Given the description of an element on the screen output the (x, y) to click on. 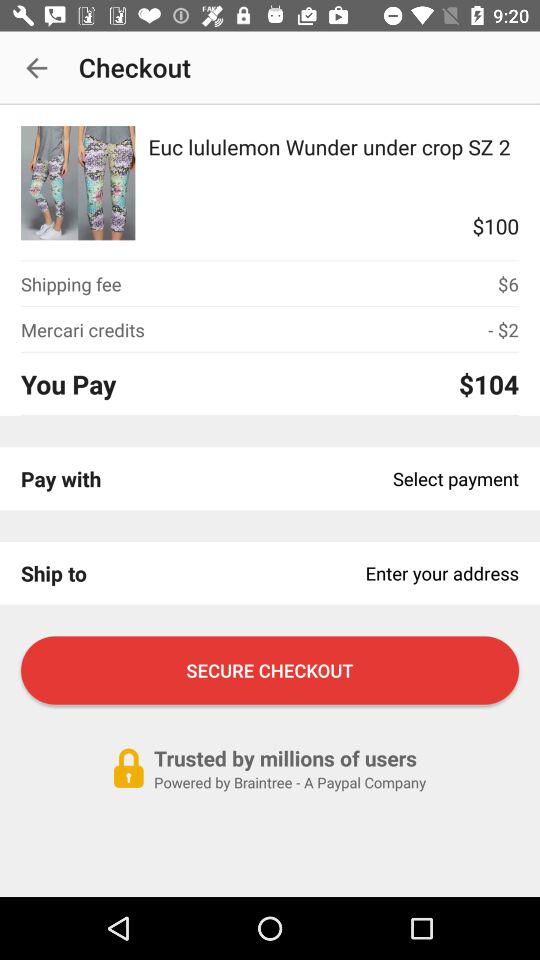
choose secure checkout icon (270, 670)
